Given the description of an element on the screen output the (x, y) to click on. 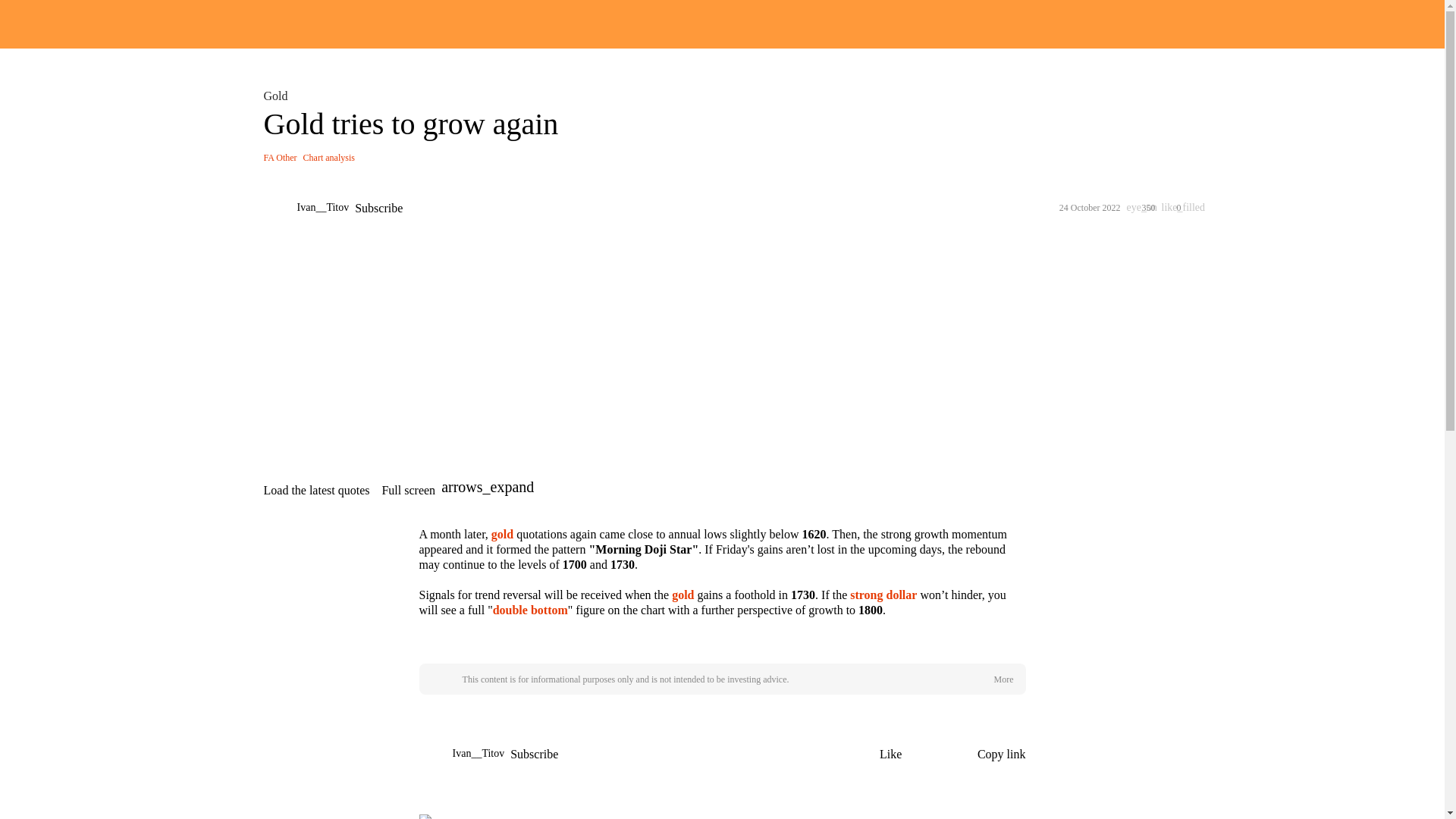
strong dollar (883, 594)
gold (682, 594)
gold (502, 533)
FA Other (280, 157)
Chart analysis (328, 157)
double bottom (530, 609)
Gold (278, 96)
More (1002, 679)
